Given the description of an element on the screen output the (x, y) to click on. 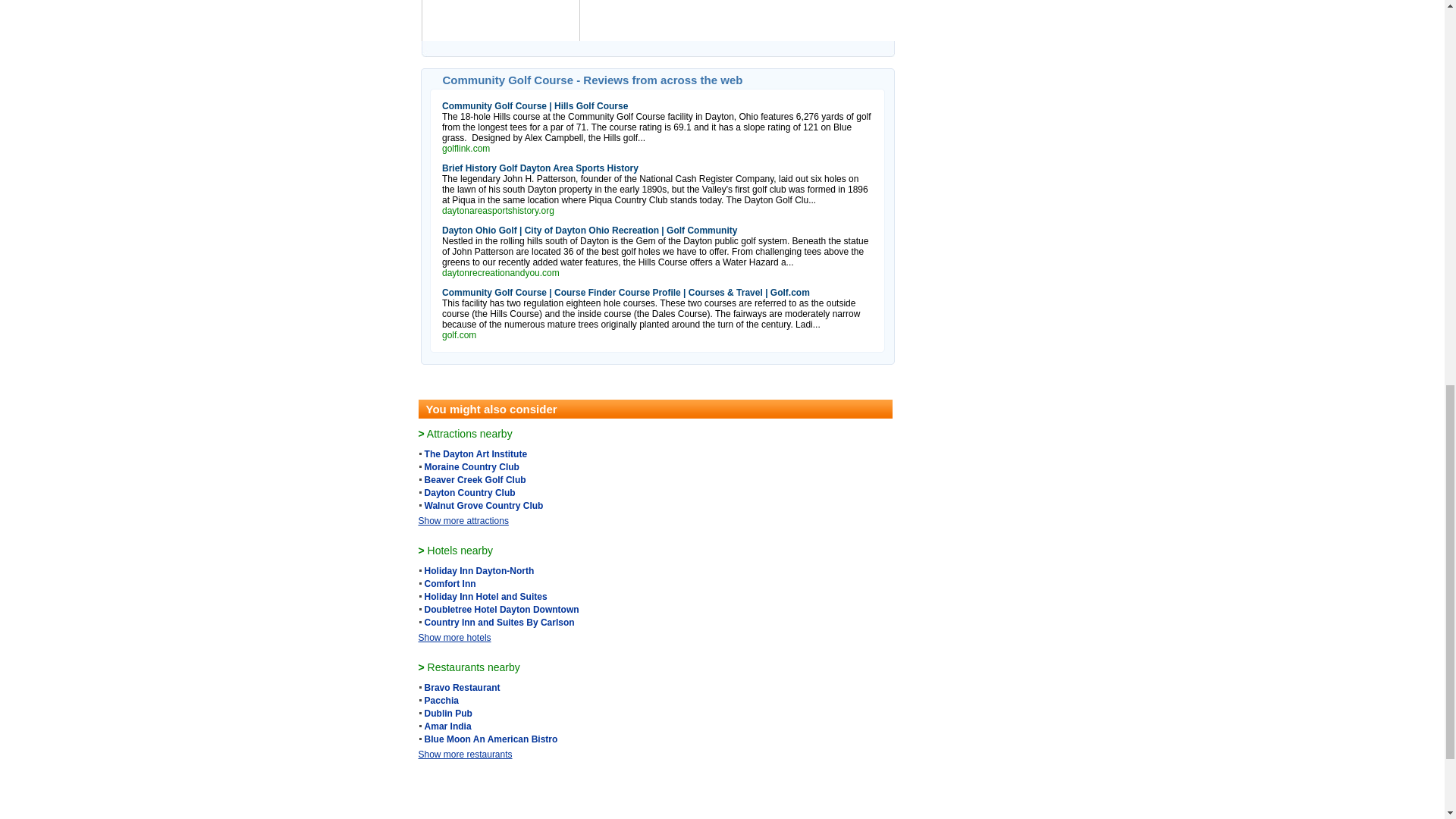
Advertisement (964, 51)
Holiday Inn Dayton-North (479, 570)
Show more attractions (463, 520)
The Dayton Art Institute (476, 453)
Doubletree Hotel Dayton Downtown (502, 609)
Comfort Inn (450, 583)
Moraine Country Club (472, 466)
Brief History Golf Dayton Area Sports History (540, 167)
Country Inn and Suites By Carlson (500, 622)
Walnut Grove Country Club (484, 505)
Show more hotels (455, 637)
Beaver Creek Golf Club (475, 480)
Holiday Inn Hotel and Suites (486, 596)
Dayton Country Club (470, 492)
